Given the description of an element on the screen output the (x, y) to click on. 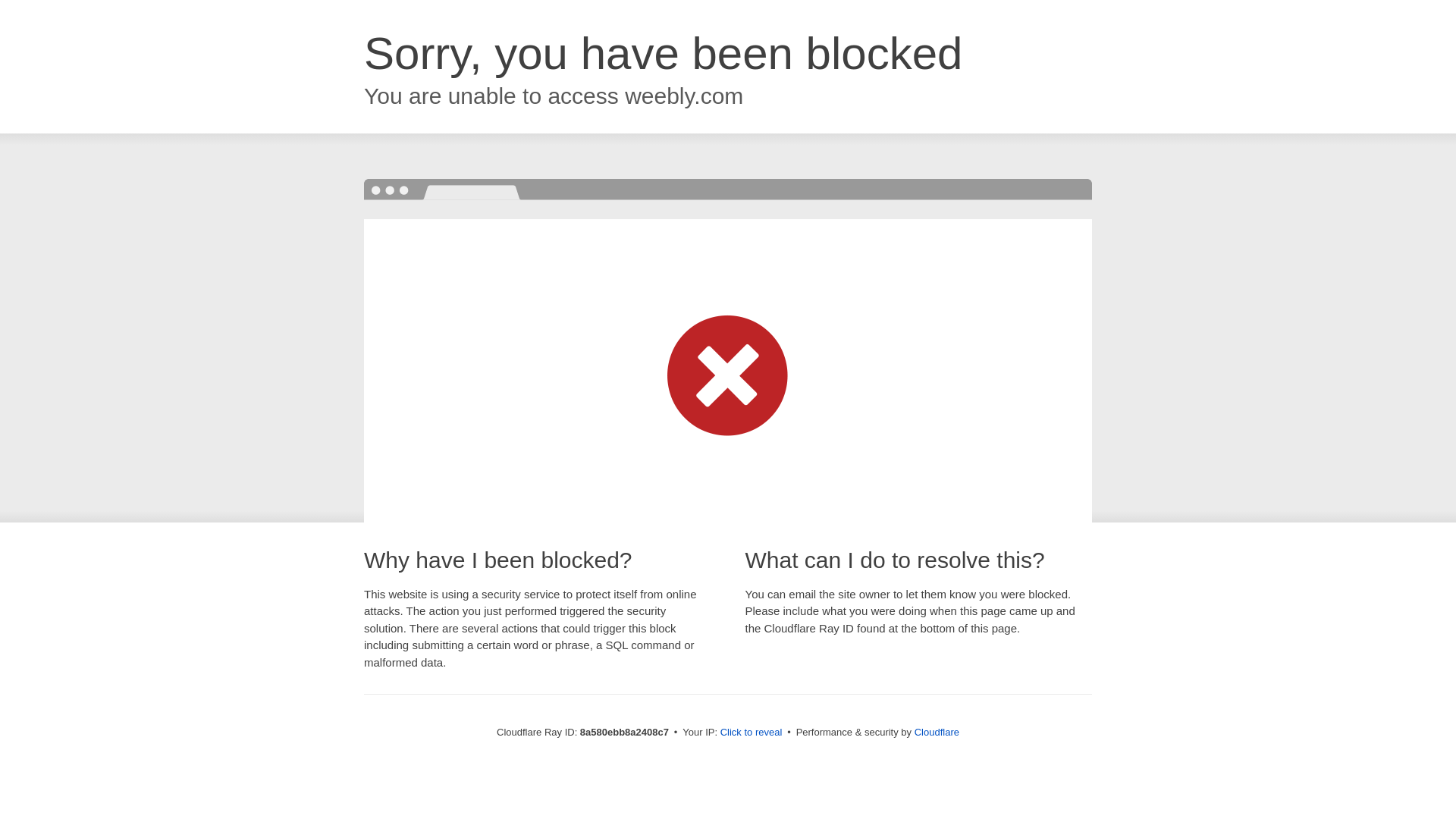
Click to reveal (751, 732)
Cloudflare (936, 731)
